Given the description of an element on the screen output the (x, y) to click on. 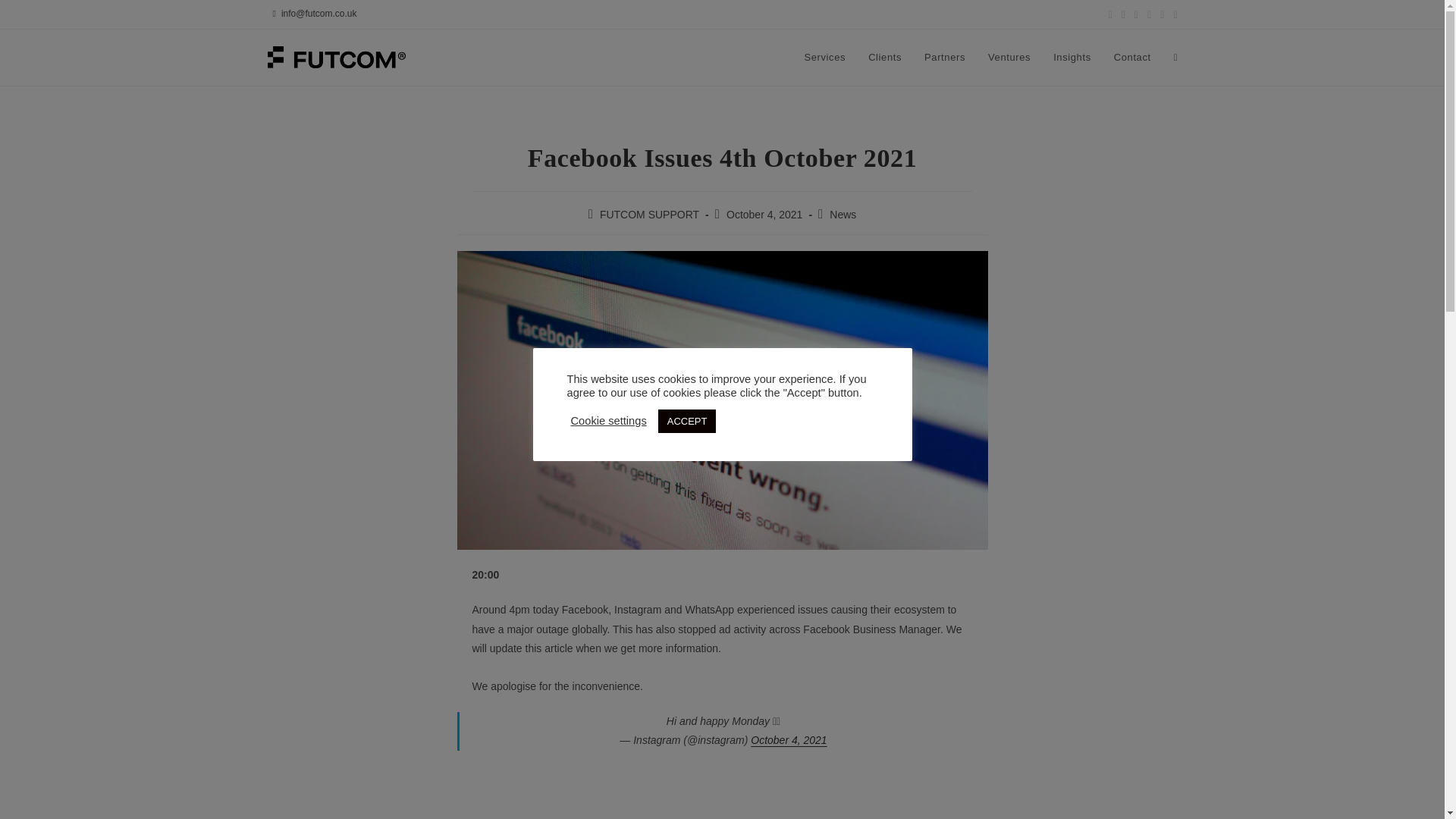
Insights (1072, 57)
FUTCOM SUPPORT (648, 214)
Contact (1131, 57)
Posts by FUTCOM SUPPORT (648, 214)
October 4, 2021 (789, 739)
Ventures (1009, 57)
Clients (884, 57)
Services (824, 57)
News (842, 214)
Partners (944, 57)
